Given the description of an element on the screen output the (x, y) to click on. 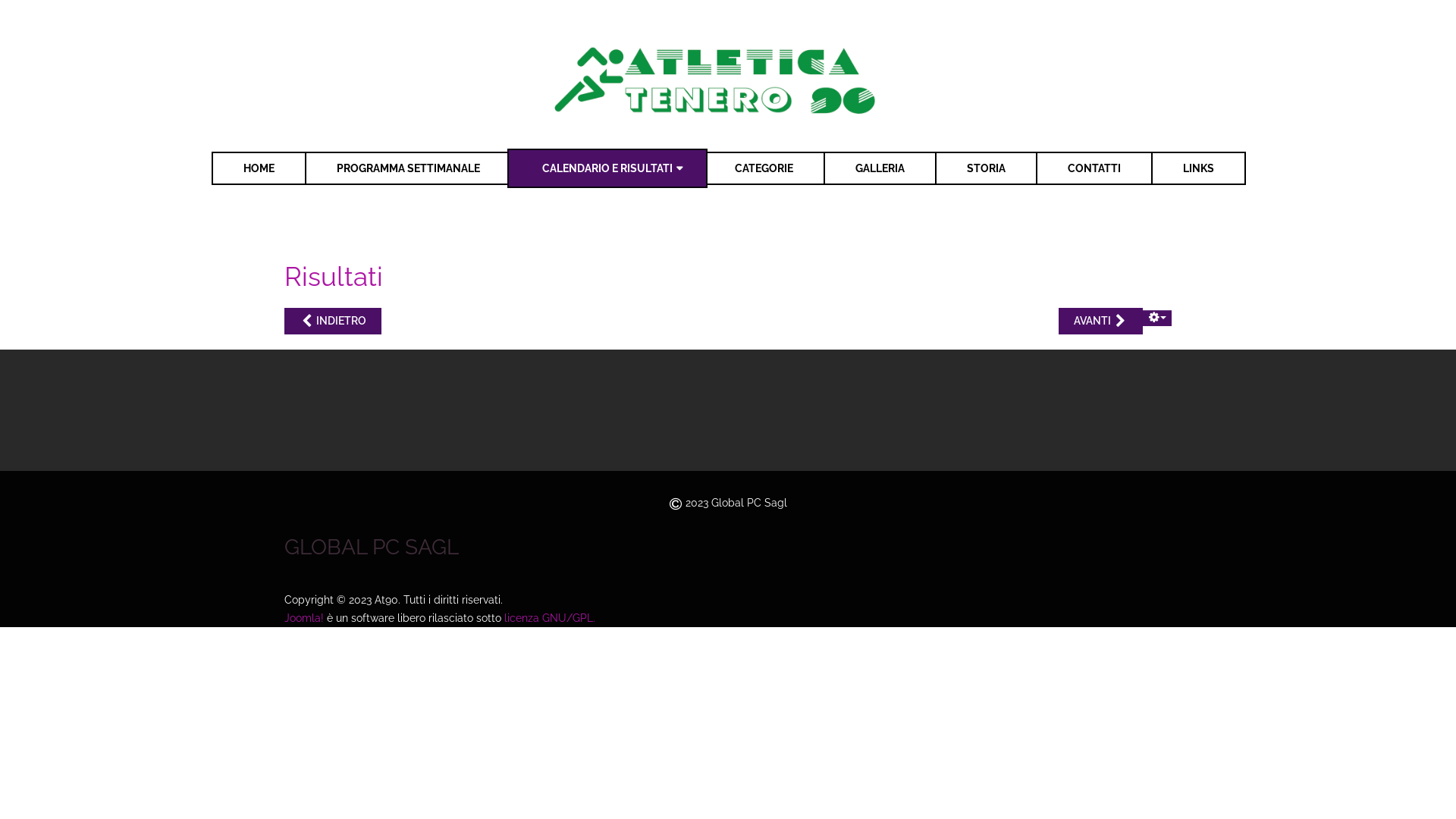
LINKS Element type: text (1198, 168)
STORIA Element type: text (985, 168)
Risultati Element type: text (333, 275)
licenza GNU/GPL. Element type: text (549, 617)
CATEGORIE Element type: text (763, 168)
Joomla! Element type: text (303, 617)
INDIETRO Element type: text (332, 320)
HOME Element type: text (258, 168)
GALLERIA Element type: text (880, 168)
PROGRAMMA SETTIMANALE Element type: text (408, 168)
CONTATTI Element type: text (1094, 168)
AVANTI Element type: text (1100, 320)
CALENDARIO E RISULTATI Element type: text (606, 168)
